Given the description of an element on the screen output the (x, y) to click on. 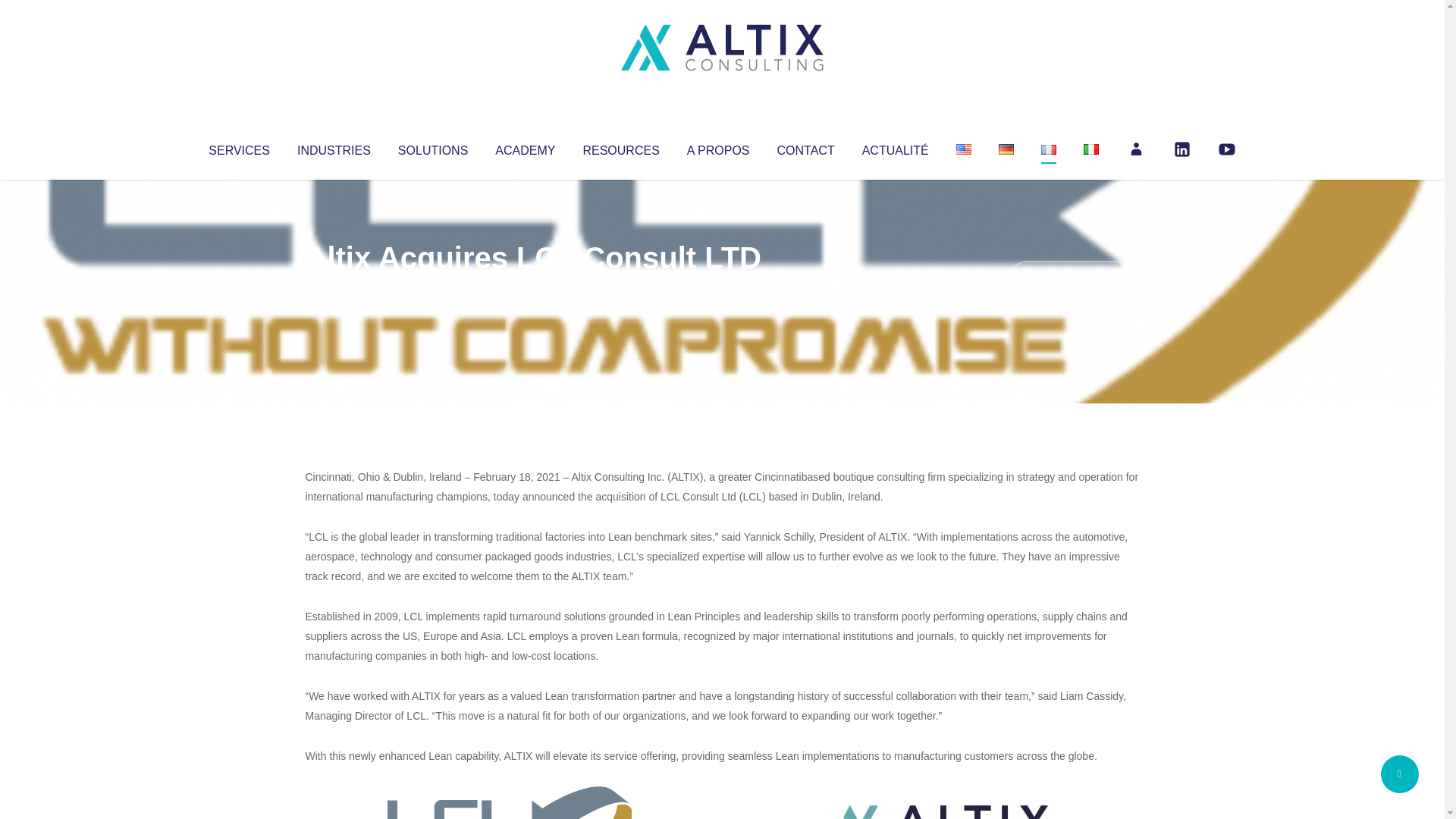
Articles par Altix (333, 287)
RESOURCES (620, 146)
INDUSTRIES (334, 146)
Altix (333, 287)
Uncategorized (530, 287)
ACADEMY (524, 146)
A PROPOS (718, 146)
No Comments (1073, 278)
SERVICES (238, 146)
SOLUTIONS (432, 146)
